Given the description of an element on the screen output the (x, y) to click on. 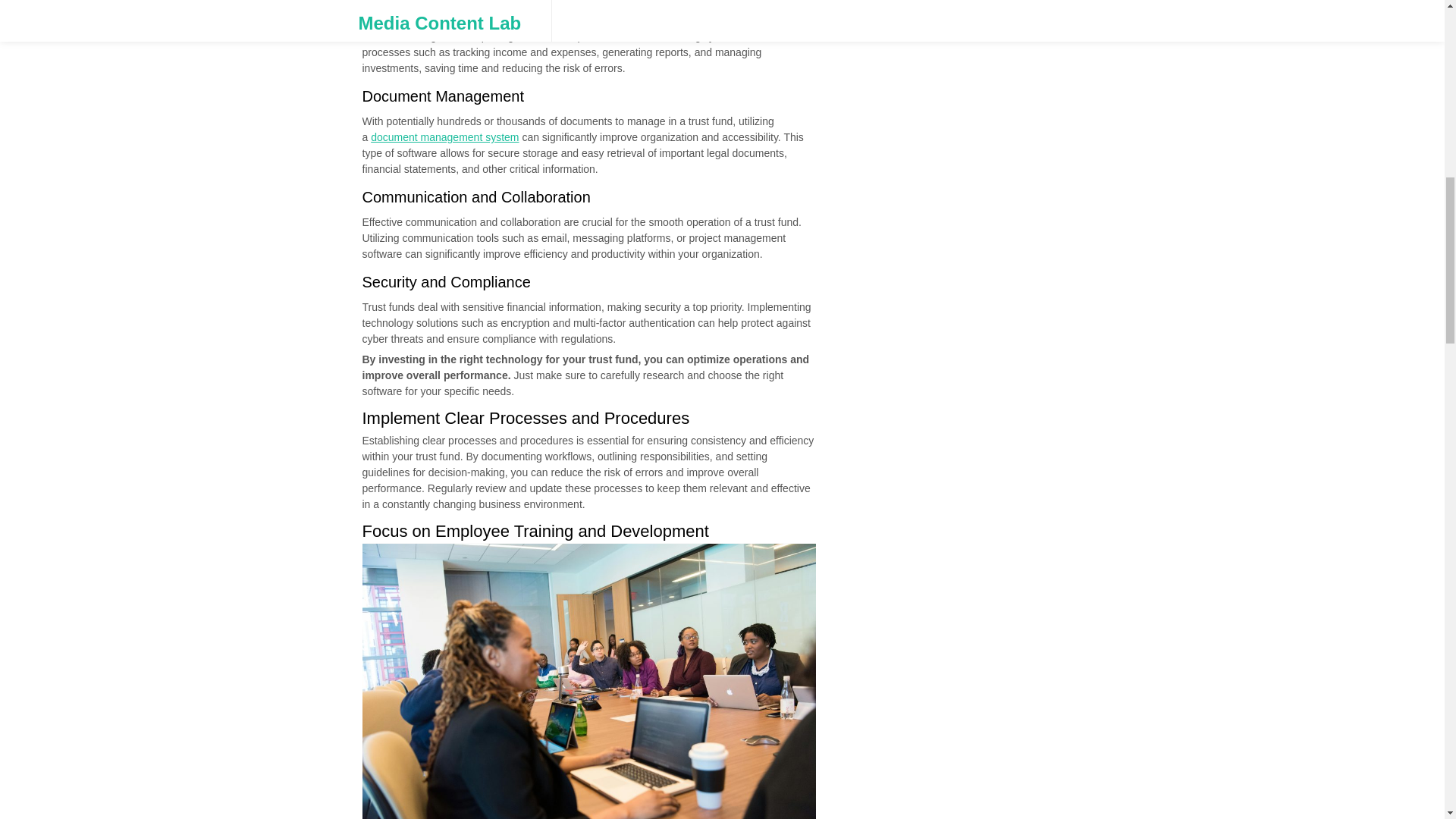
Employees (589, 681)
document management system (444, 137)
